Given the description of an element on the screen output the (x, y) to click on. 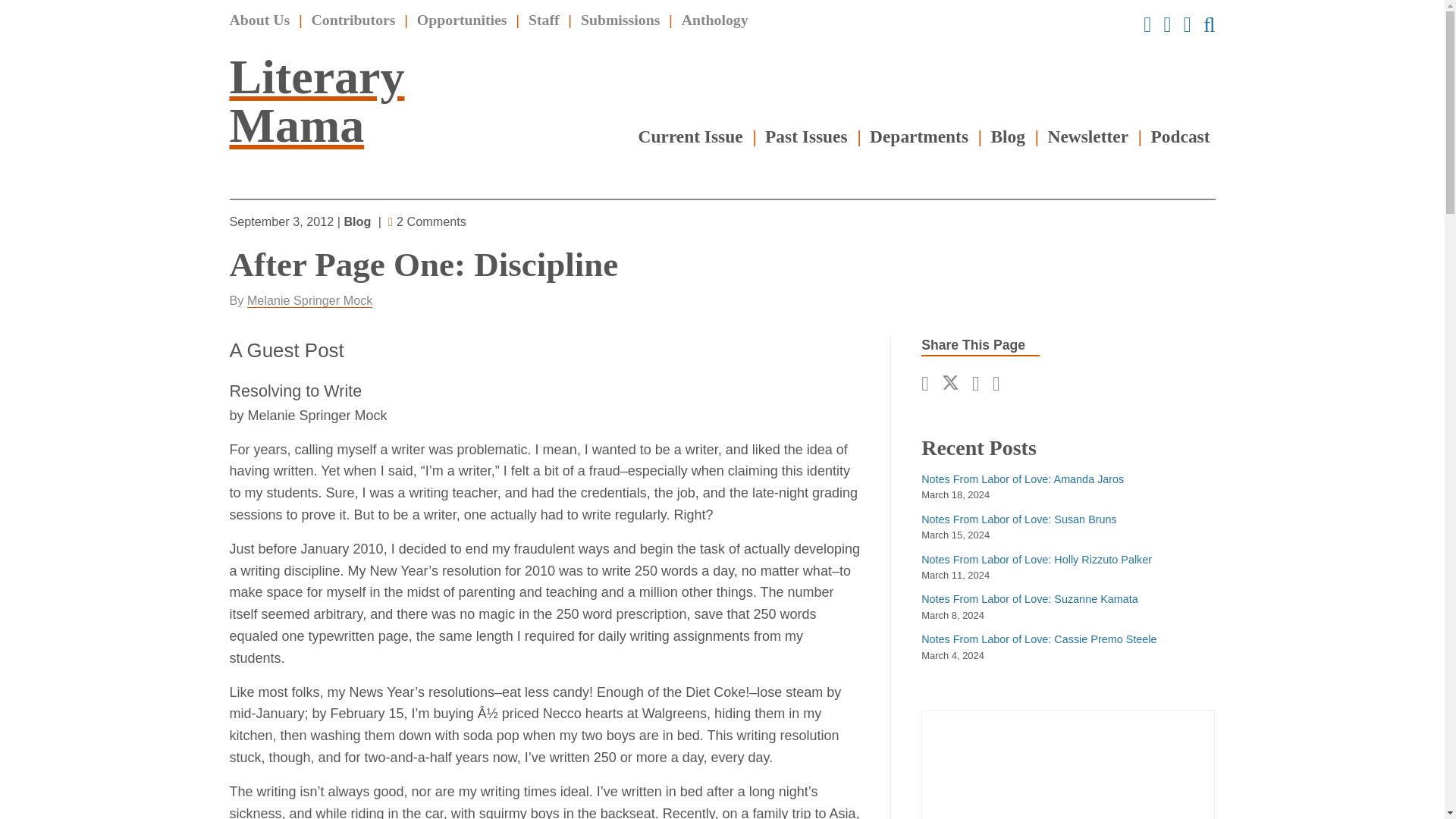
Past Issues (806, 136)
Contributors (353, 19)
Notes From Labor of Love: Amanda Jaros (1022, 479)
Departments (918, 136)
Share to X (955, 383)
Current Issue (690, 136)
Current Issue (690, 136)
x (955, 383)
Melanie Springer Mock (309, 300)
Notes From Labor of Love: Susan Bruns (1018, 519)
